Given the description of an element on the screen output the (x, y) to click on. 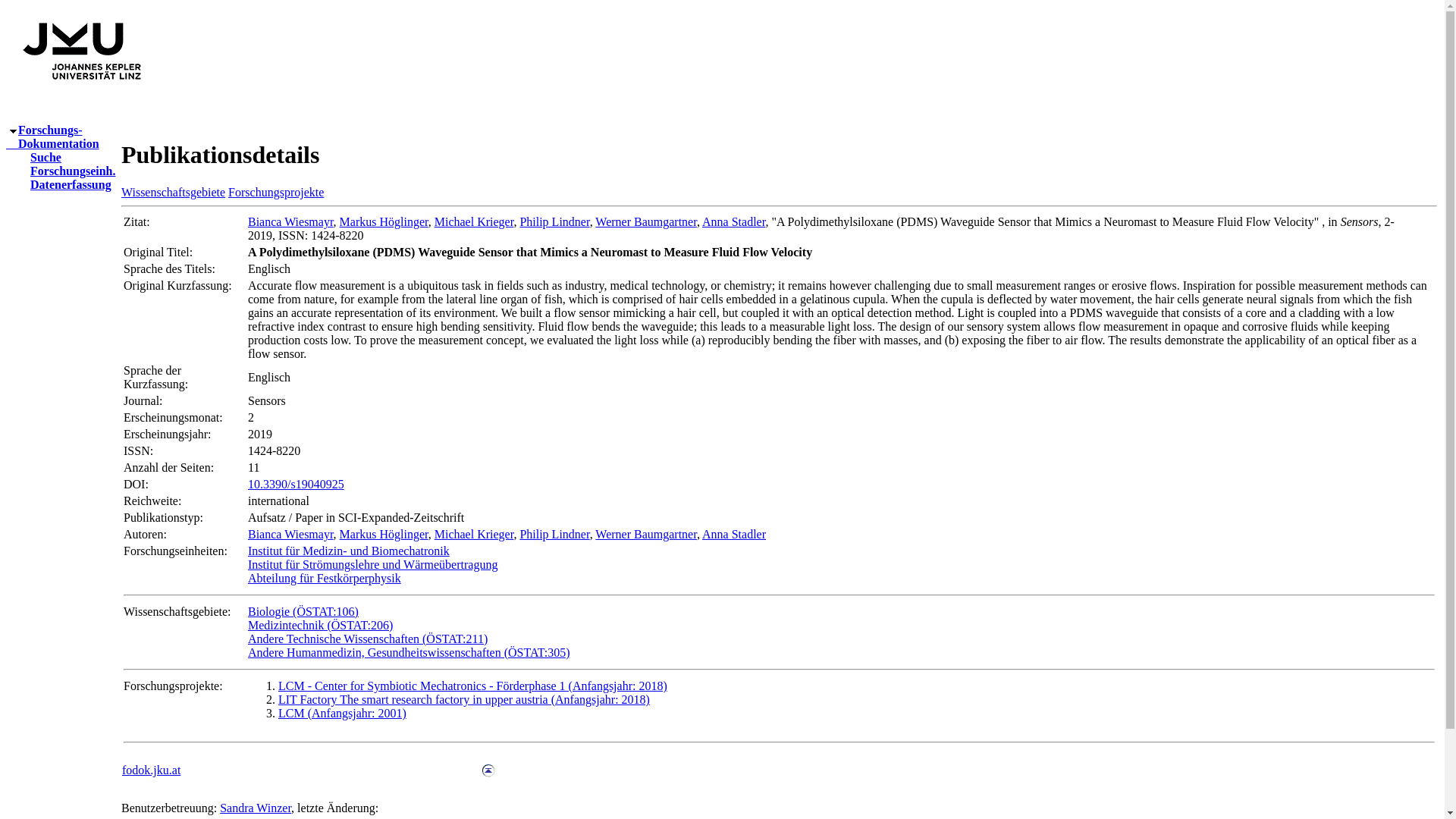
Datenerfassung (64, 184)
Wissenschaftsgebiete: (177, 611)
Suche (39, 156)
Philip Lindner (554, 221)
Anna Stadler (733, 221)
Werner Baumgartner (646, 533)
fodok.jku.at (151, 769)
Bianca Wiesmayr (290, 221)
Philip Lindner (554, 533)
Michael Krieger (473, 221)
Forschungsprojekte: (172, 685)
Forschungsprojekte (52, 136)
Werner Baumgartner (275, 192)
Bianca Wiesmayr (646, 221)
